Given the description of an element on the screen output the (x, y) to click on. 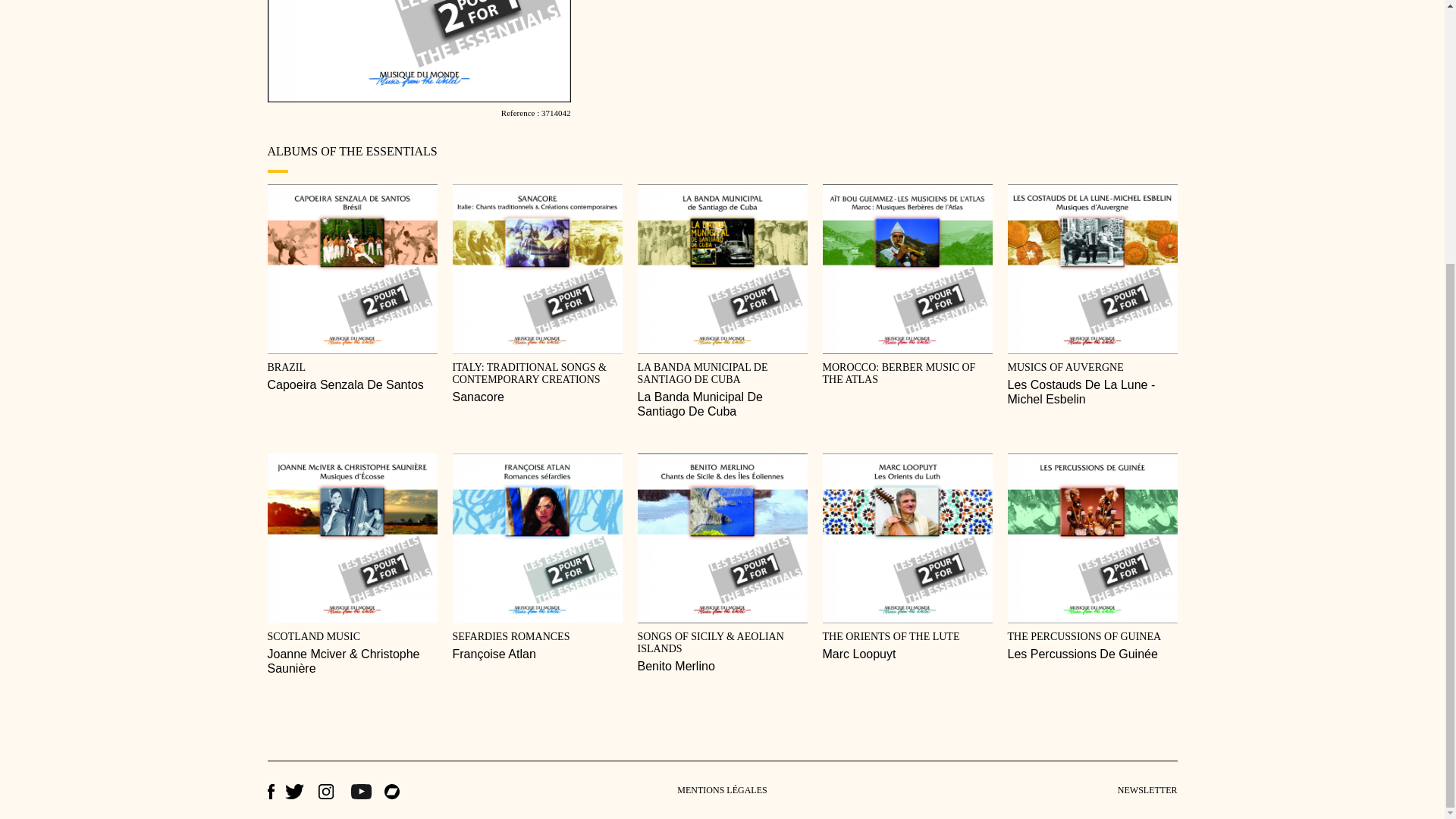
Youtube (362, 791)
Instagram (329, 791)
Twitter (296, 791)
Bandcamp (391, 791)
